Given the description of an element on the screen output the (x, y) to click on. 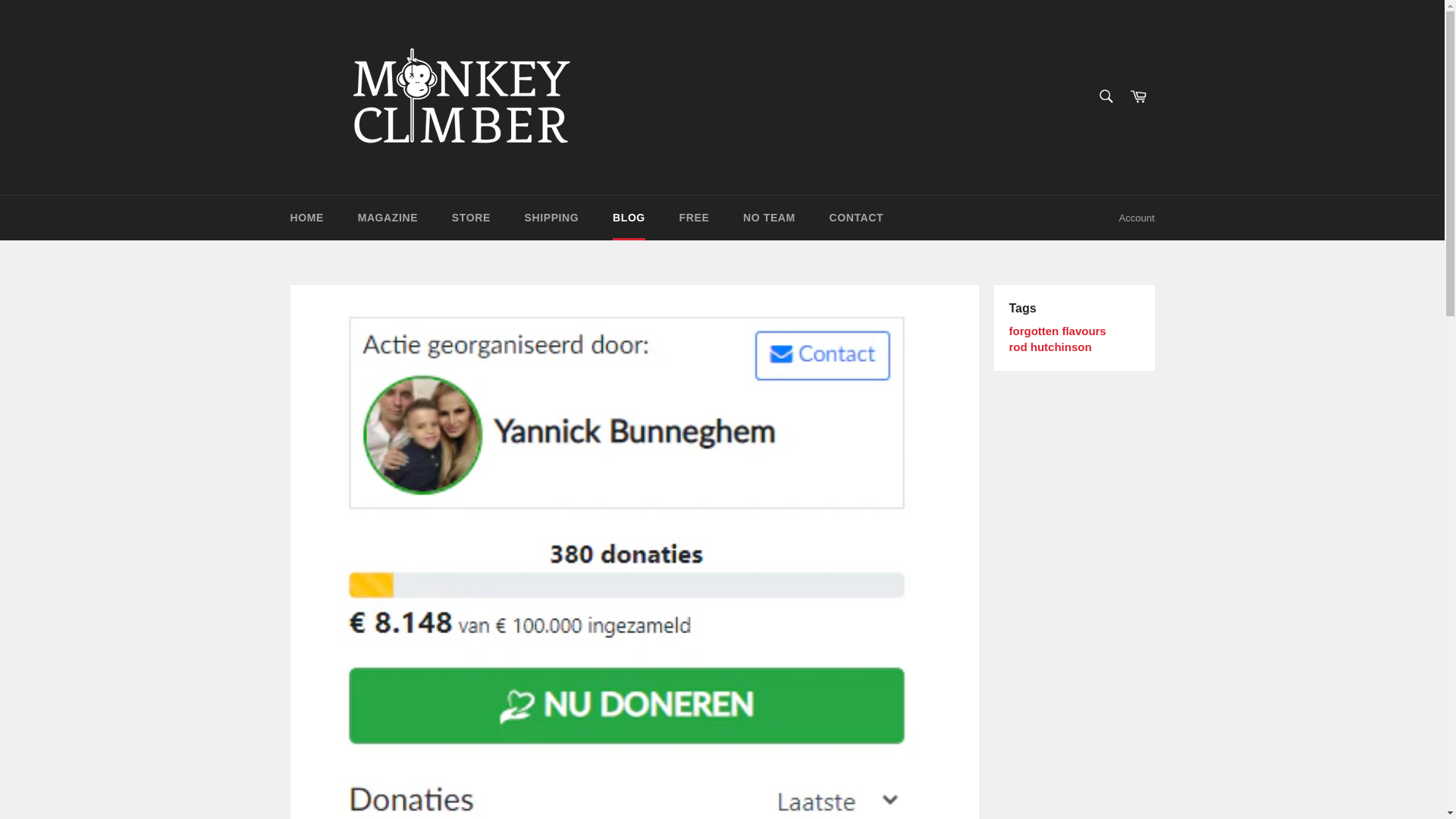
MAGAZINE (387, 217)
rod hutchinson (1049, 346)
FREE (694, 217)
HOME (306, 217)
BLOG (628, 217)
Cart (1138, 97)
NO TEAM (769, 217)
STORE (470, 217)
Show articles tagged rod hutchinson (1049, 346)
Search (1104, 96)
